Given the description of an element on the screen output the (x, y) to click on. 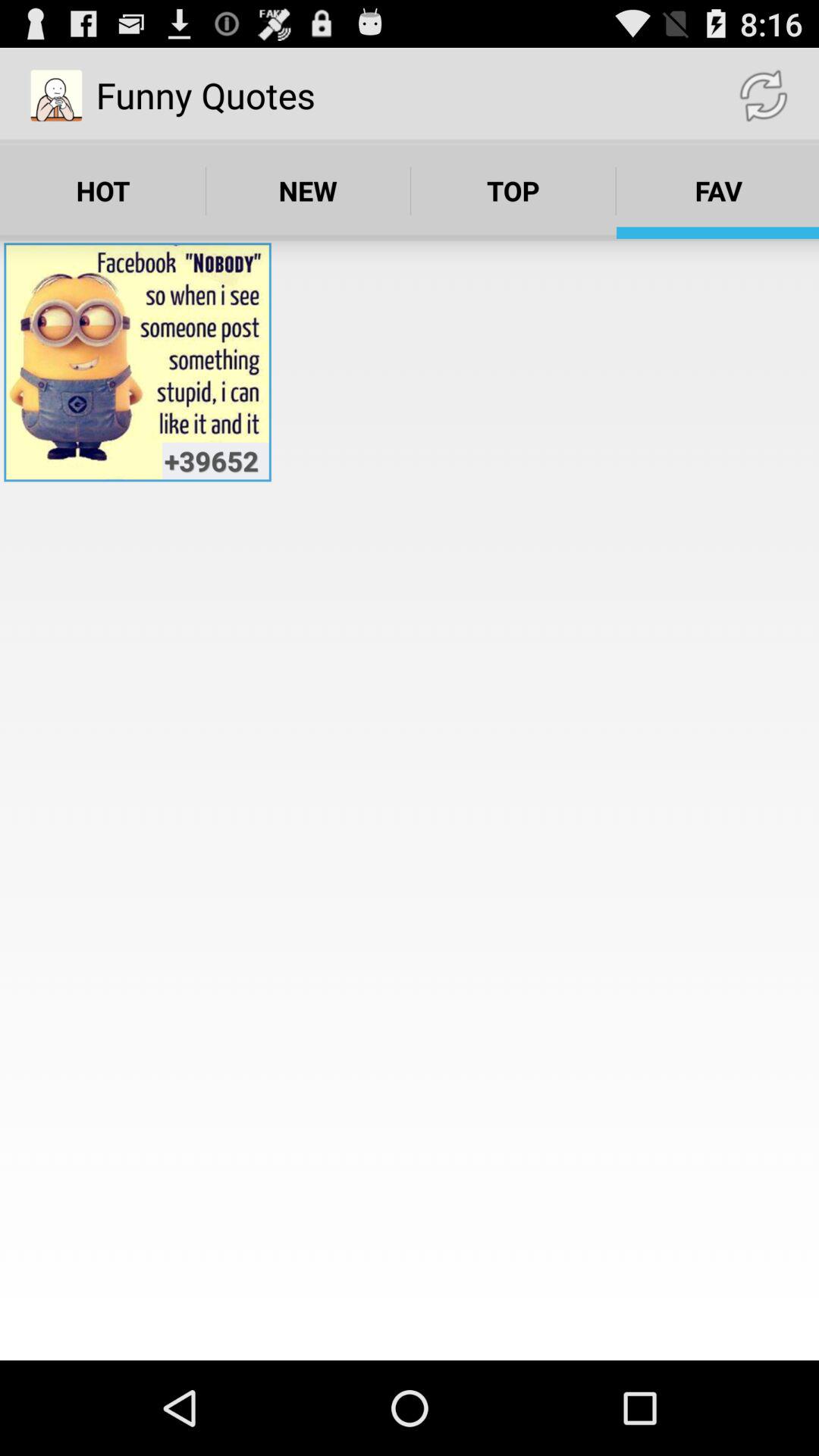
press app to the right of funny quotes app (763, 95)
